Given the description of an element on the screen output the (x, y) to click on. 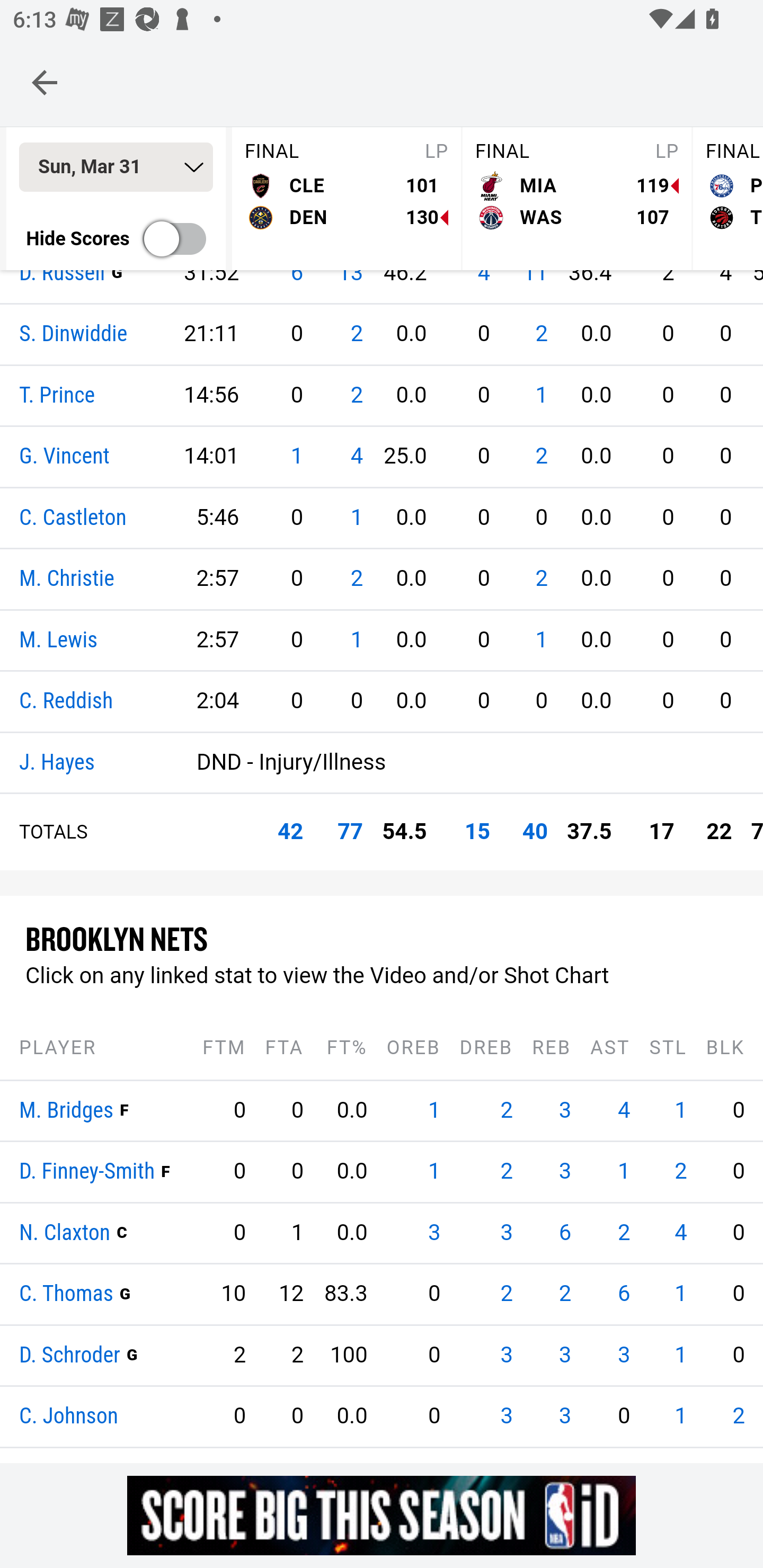
Navigate up (44, 82)
Sun, Mar 31 (115, 168)
S. Dinwiddie S .  Dinwiddie (73, 335)
2 (356, 334)
2 (541, 334)
T. Prince T .  Prince (57, 395)
2 (356, 395)
1 (541, 395)
G. Vincent G .  Vincent (64, 457)
1 (296, 456)
4 (356, 456)
2 (541, 456)
C. Castleton C .  Castleton (73, 518)
1 (356, 518)
M. Christie M .  Christie (66, 580)
2 (356, 579)
2 (541, 579)
M. Lewis M .  Lewis (58, 640)
1 (356, 640)
1 (541, 640)
C. Reddish C .  Reddish (66, 702)
J. Hayes J .  Hayes (57, 762)
42 (289, 831)
77 (350, 831)
15 (477, 831)
40 (534, 831)
M. Bridges M .  Bridges (66, 1110)
3 (55, 1110)
11 (106, 1110)
1 (434, 1110)
2 (506, 1110)
3 (564, 1110)
4 (623, 1110)
1 (680, 1110)
D. Finney-Smith D .  Finney-Smith (87, 1172)
1 (55, 1171)
3 (113, 1171)
1 (434, 1171)
2 (506, 1171)
3 (564, 1171)
1 (623, 1171)
2 (680, 1171)
N. Claxton N .  Claxton (65, 1233)
3 (434, 1233)
3 (506, 1233)
6 (564, 1233)
2 (623, 1233)
4 (680, 1233)
C. Thomas C .  Thomas (66, 1295)
4 (55, 1294)
7 (113, 1294)
2 (506, 1294)
2 (564, 1294)
6 (623, 1294)
1 (680, 1294)
D. Schroder D .  Schroder (69, 1355)
2 (55, 1355)
6 (113, 1355)
3 (506, 1355)
3 (564, 1355)
3 (623, 1355)
1 (680, 1355)
C. Johnson C .  Johnson (69, 1417)
1 (55, 1416)
5 (113, 1416)
3 (506, 1416)
3 (564, 1416)
1 (680, 1416)
2 (737, 1416)
g5nqqygr7owph (381, 1515)
